Given the description of an element on the screen output the (x, y) to click on. 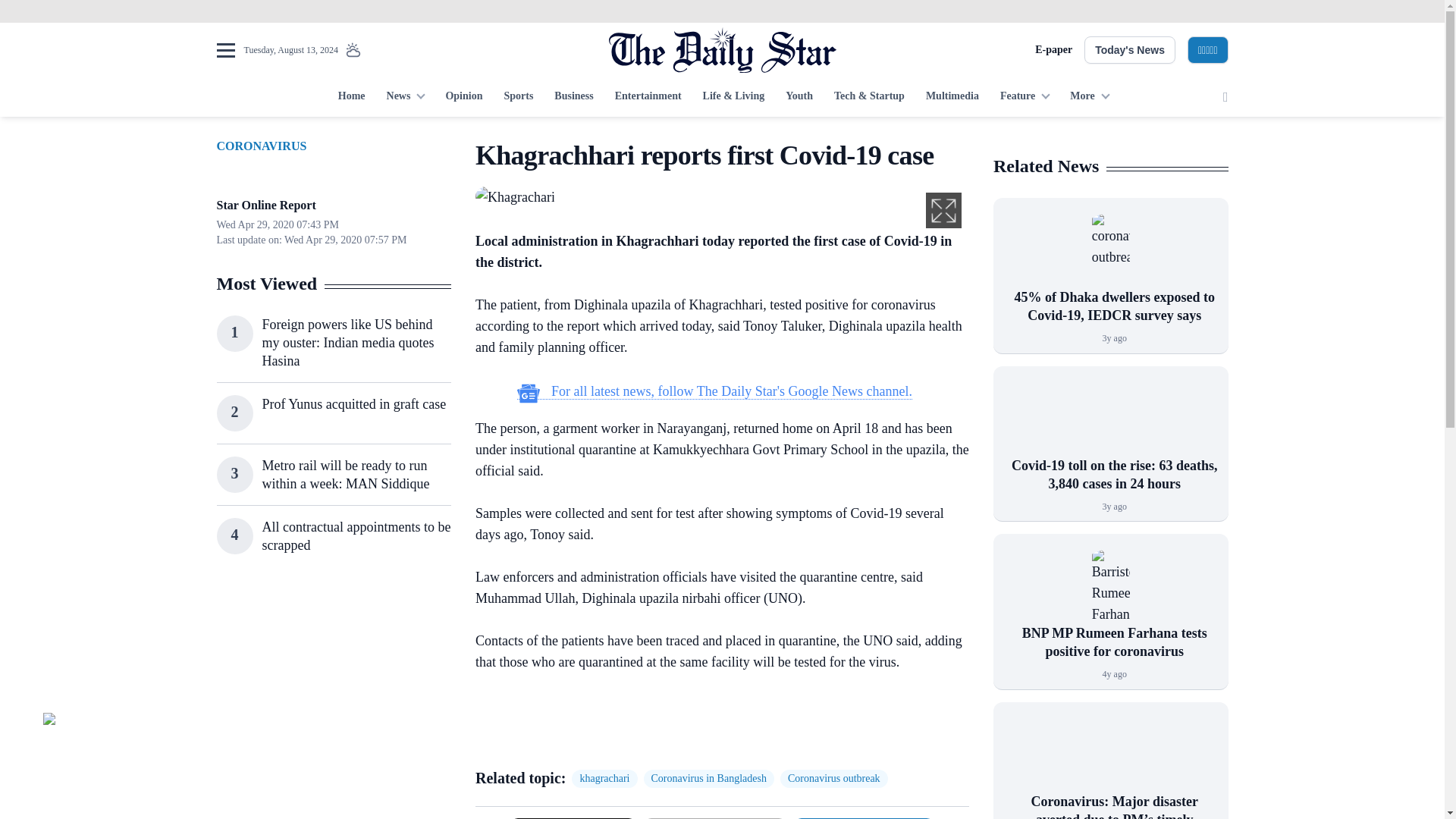
Khagrachari (515, 195)
Khagrachari (515, 197)
Sports (518, 96)
Home (351, 96)
News (405, 96)
Opinion (463, 96)
coronavirus outbreak (1110, 250)
Entertainment (647, 96)
Today's News (1129, 49)
